Given the description of an element on the screen output the (x, y) to click on. 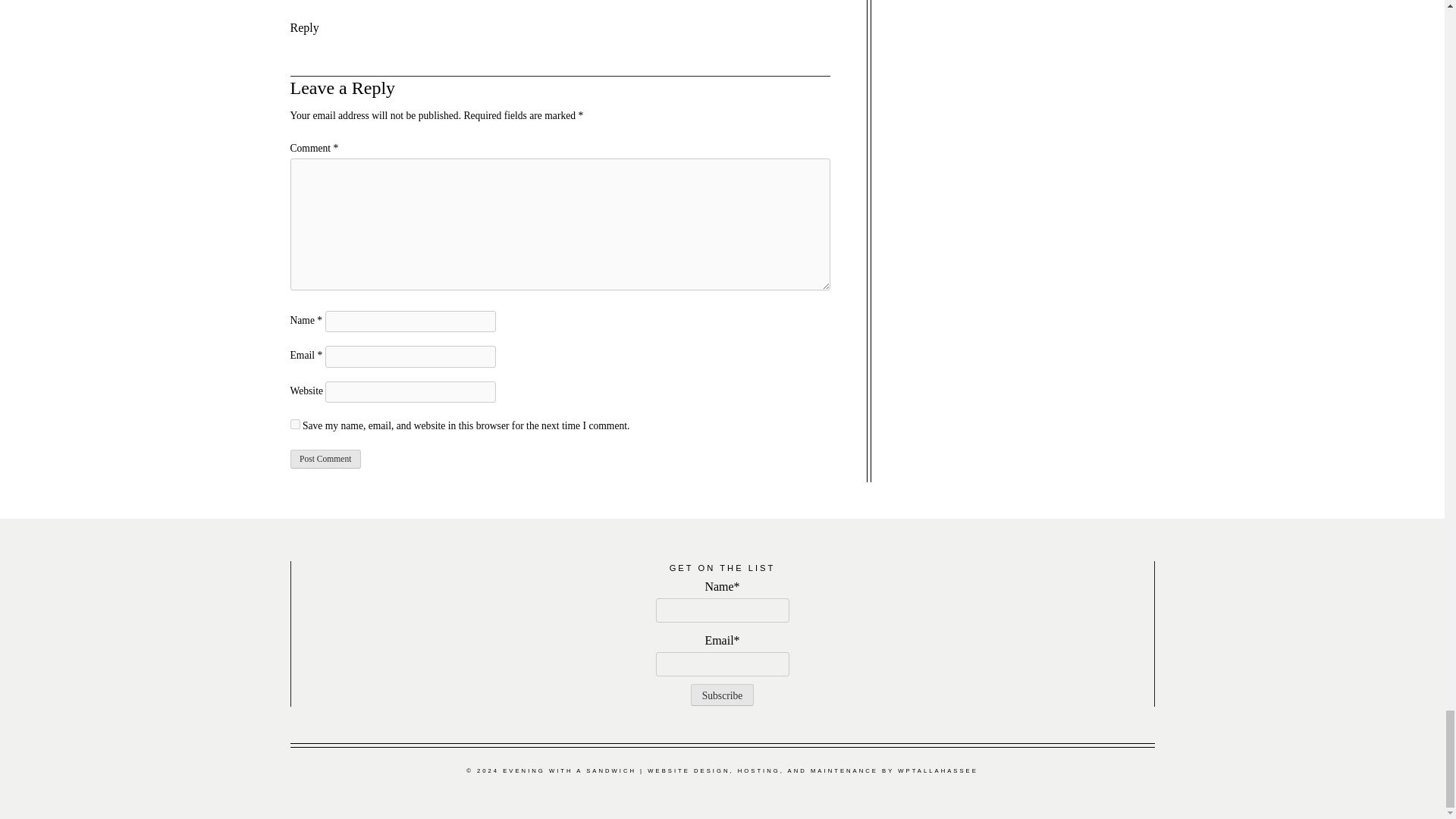
yes (294, 424)
Subscribe (722, 694)
Post Comment (324, 458)
